Given the description of an element on the screen output the (x, y) to click on. 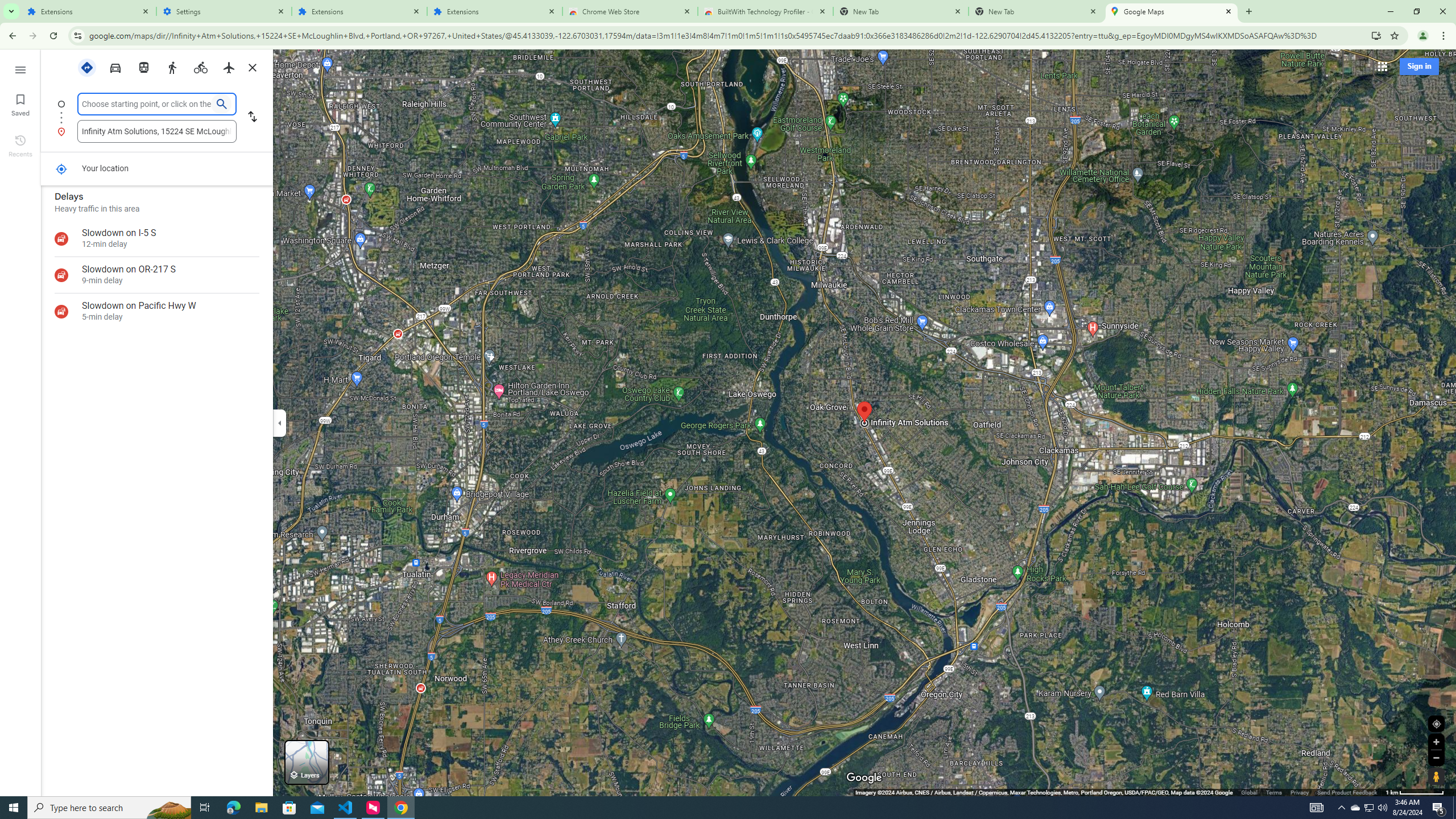
Chrome Web Store (630, 11)
Transit (143, 67)
Walking (172, 67)
